Given the description of an element on the screen output the (x, y) to click on. 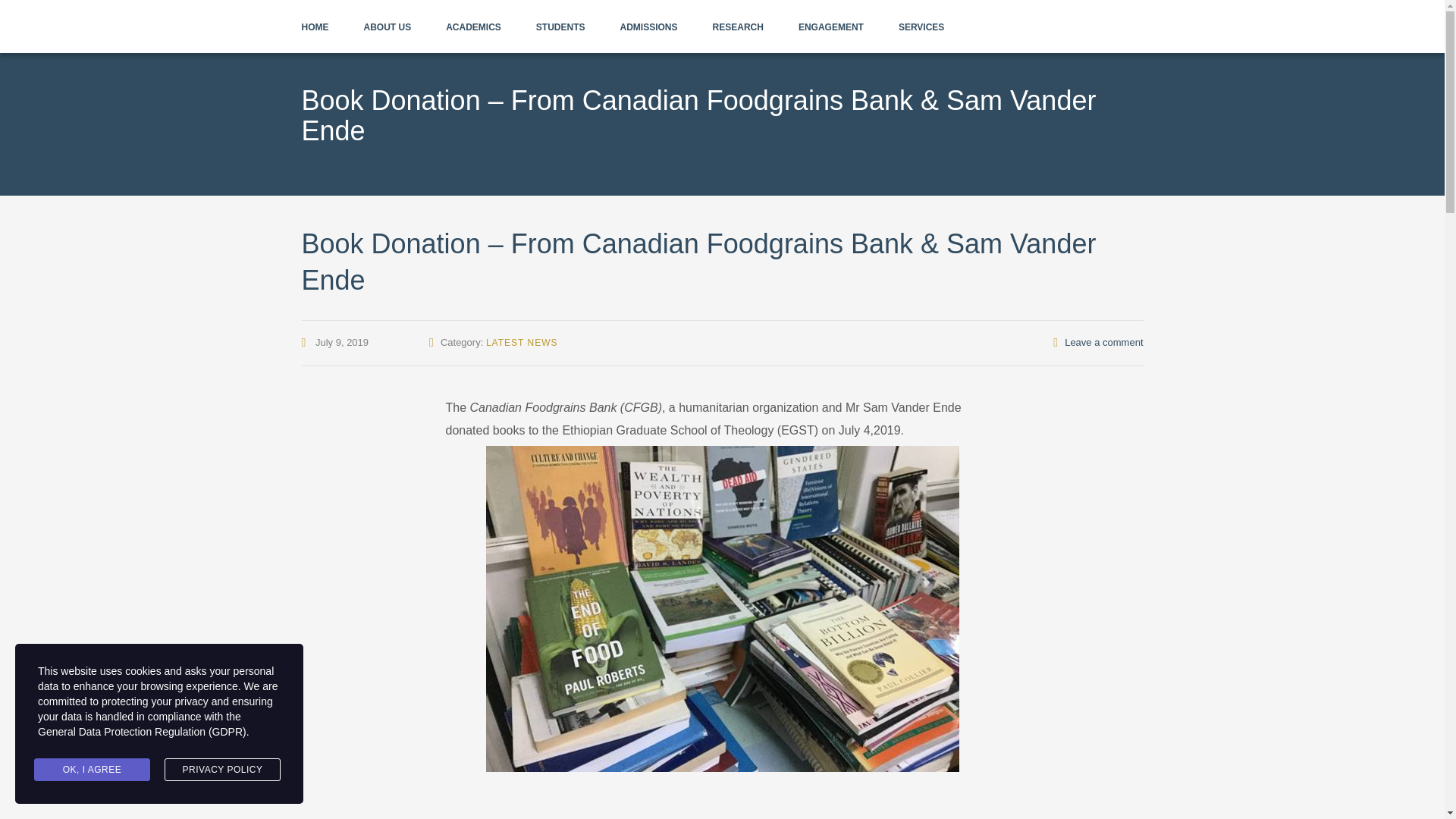
ABOUT US (388, 26)
ENGAGEMENT (830, 26)
ACADEMICS (472, 26)
ADMISSIONS (649, 26)
RESEARCH (737, 26)
STUDENTS (560, 26)
